Given the description of an element on the screen output the (x, y) to click on. 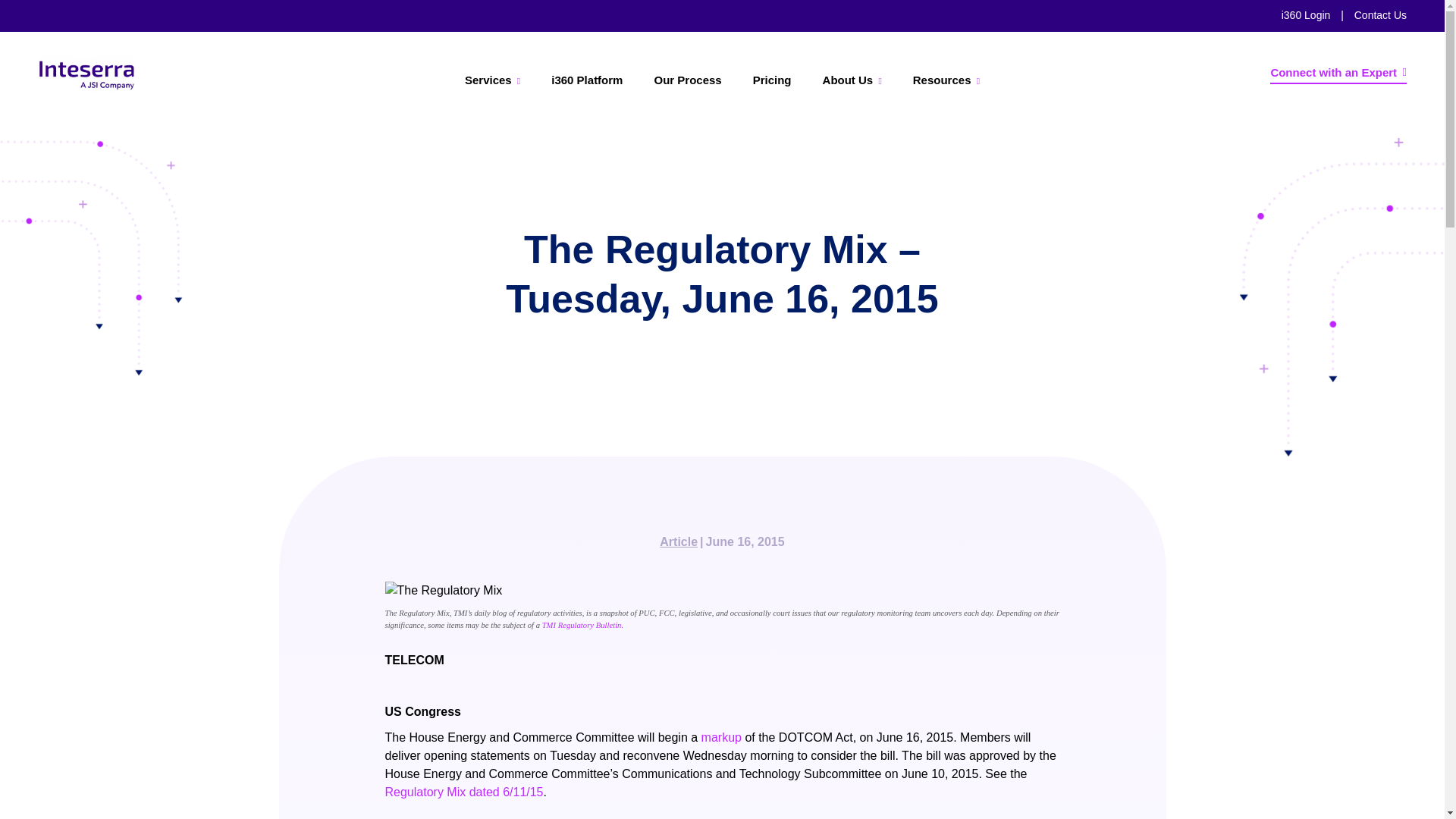
i360 Login (1305, 15)
About Us (852, 79)
logo (86, 73)
i360 Platform (586, 79)
Pricing (772, 79)
Resources (946, 79)
Our Process (687, 79)
Contact Us (1380, 15)
Services (492, 79)
